Given the description of an element on the screen output the (x, y) to click on. 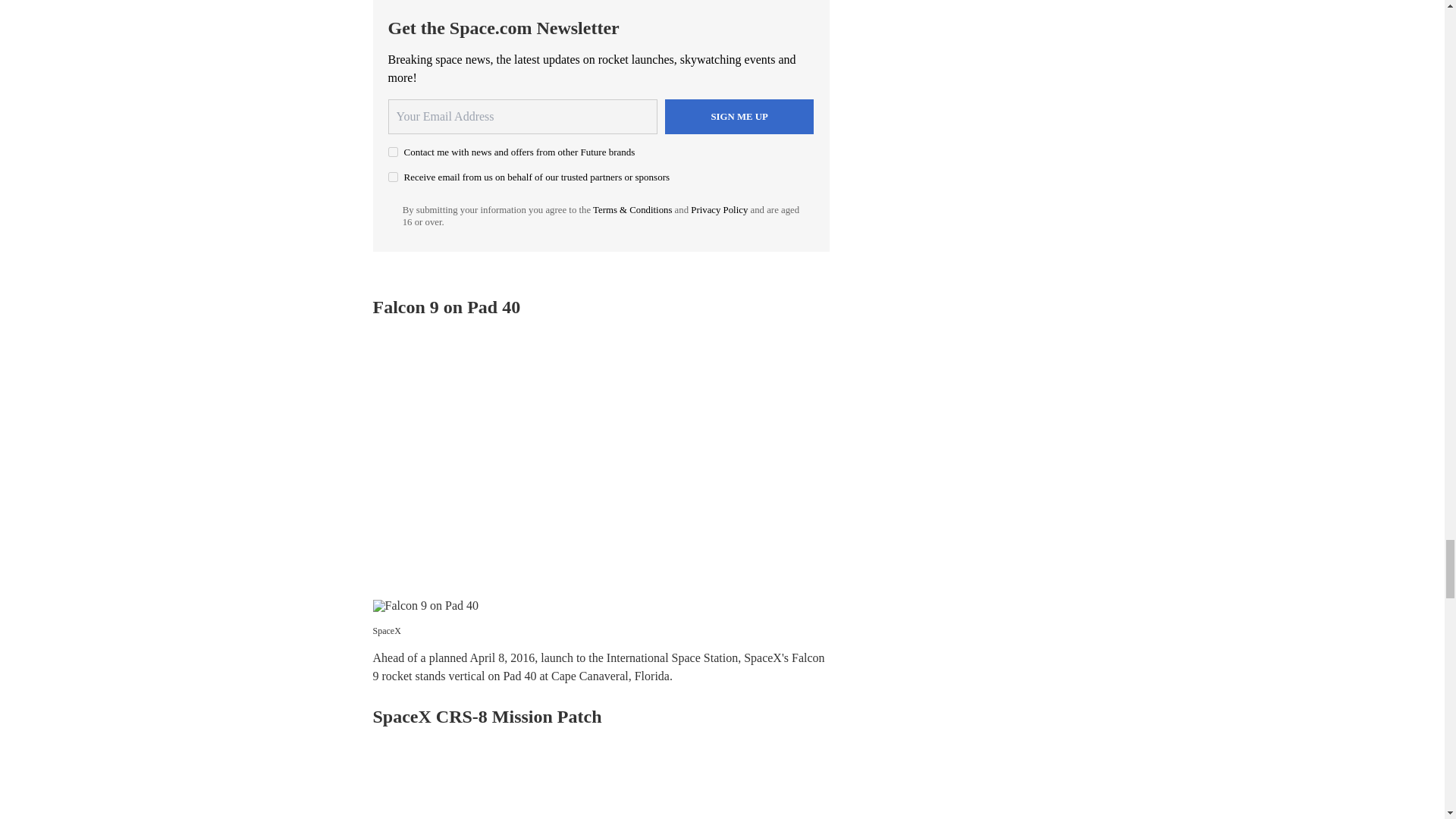
on (392, 176)
Sign me up (739, 116)
on (392, 152)
